Given the description of an element on the screen output the (x, y) to click on. 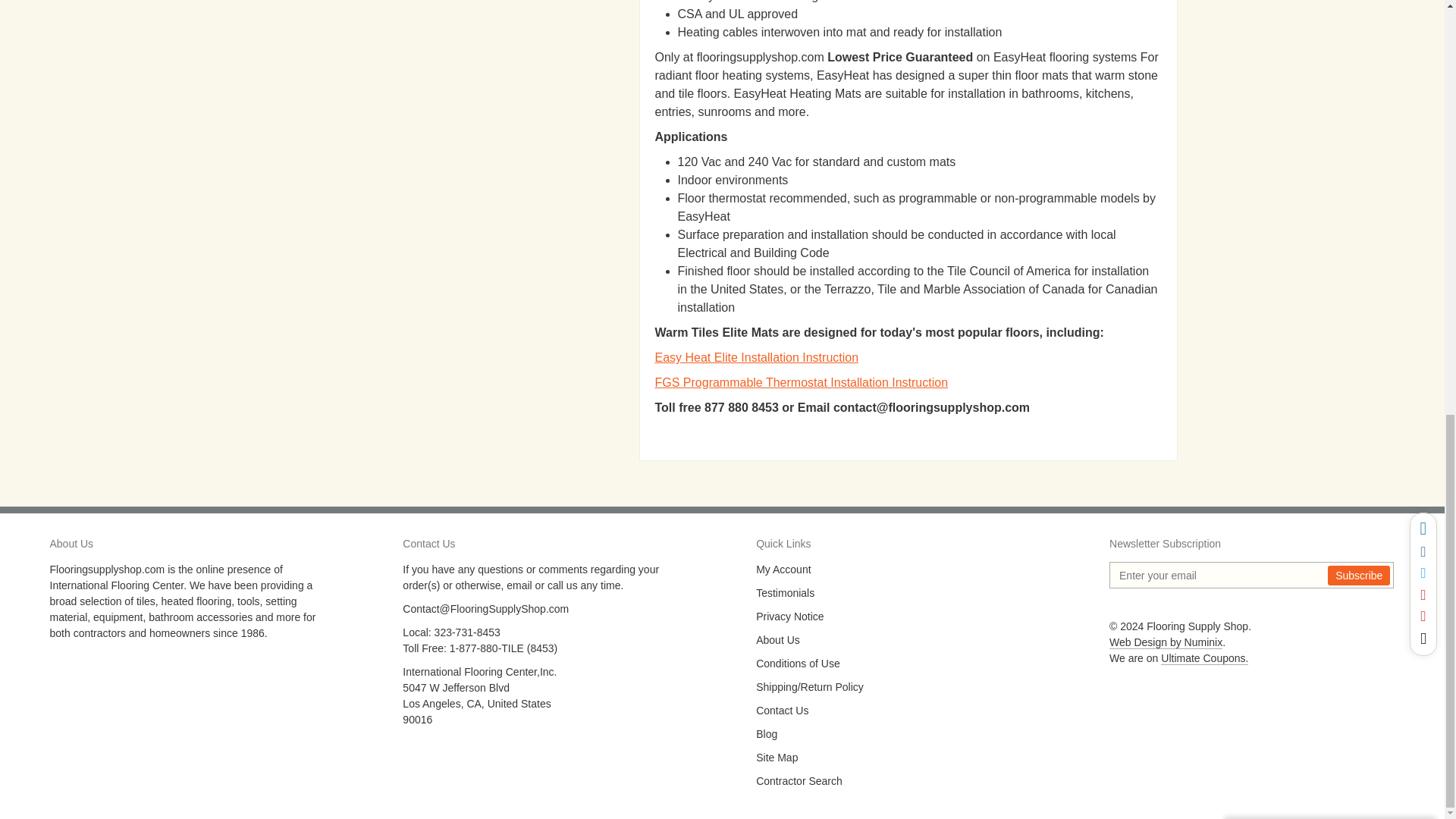
FGS Programmable Thermostat Installation Instruction (802, 382)
Easy Heat Elite Installation Instruction (757, 357)
Flooring Supply Shop coupons (1203, 658)
